Given the description of an element on the screen output the (x, y) to click on. 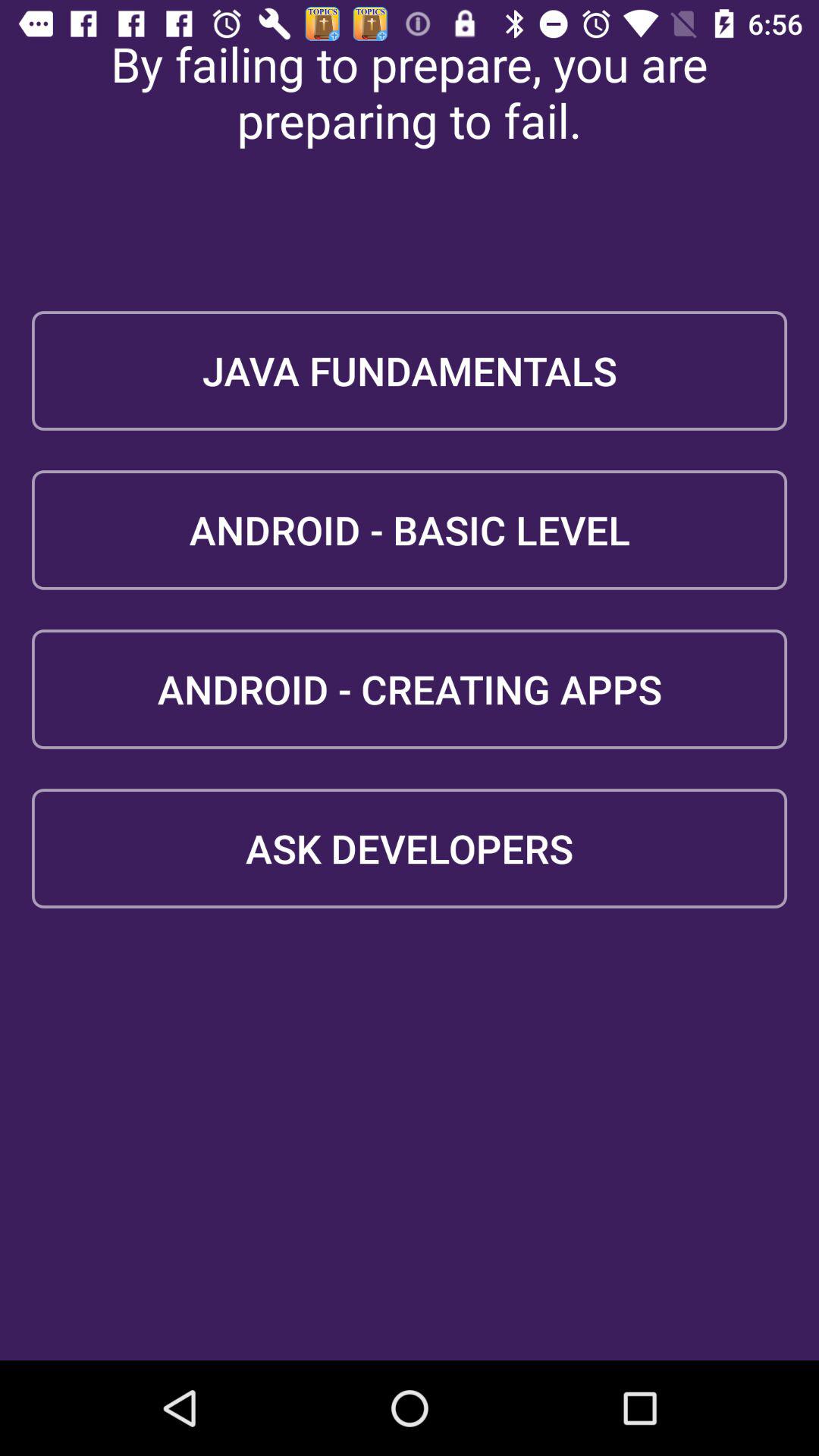
tap icon above ask developers item (409, 689)
